Given the description of an element on the screen output the (x, y) to click on. 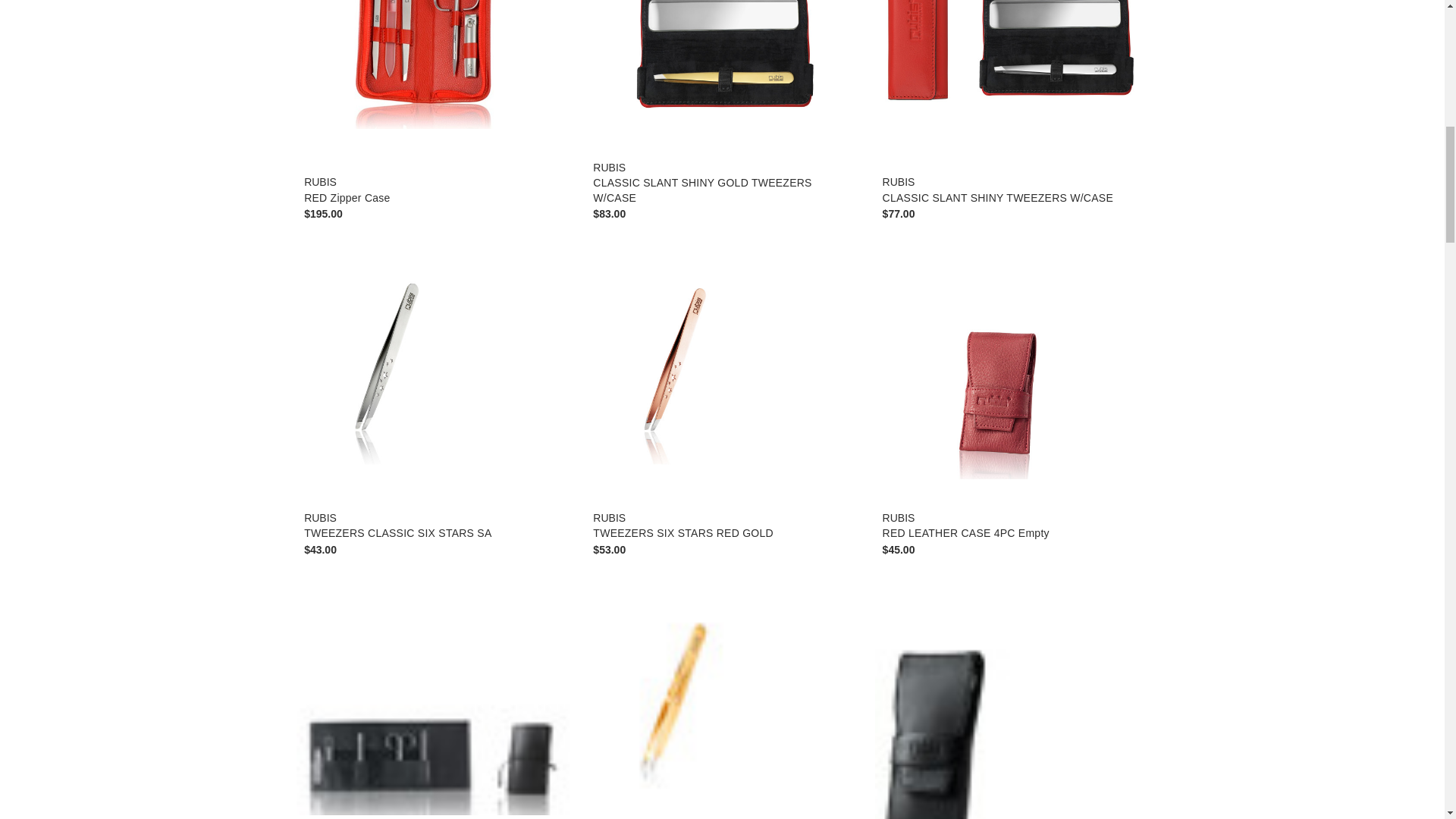
RED LEATHER CASE 4PC Empty (1011, 370)
TWEEZERS CLASSIC SIX STARS SA (433, 363)
TWEEZERS SIX STARS RED GOLD (722, 363)
